Given the description of an element on the screen output the (x, y) to click on. 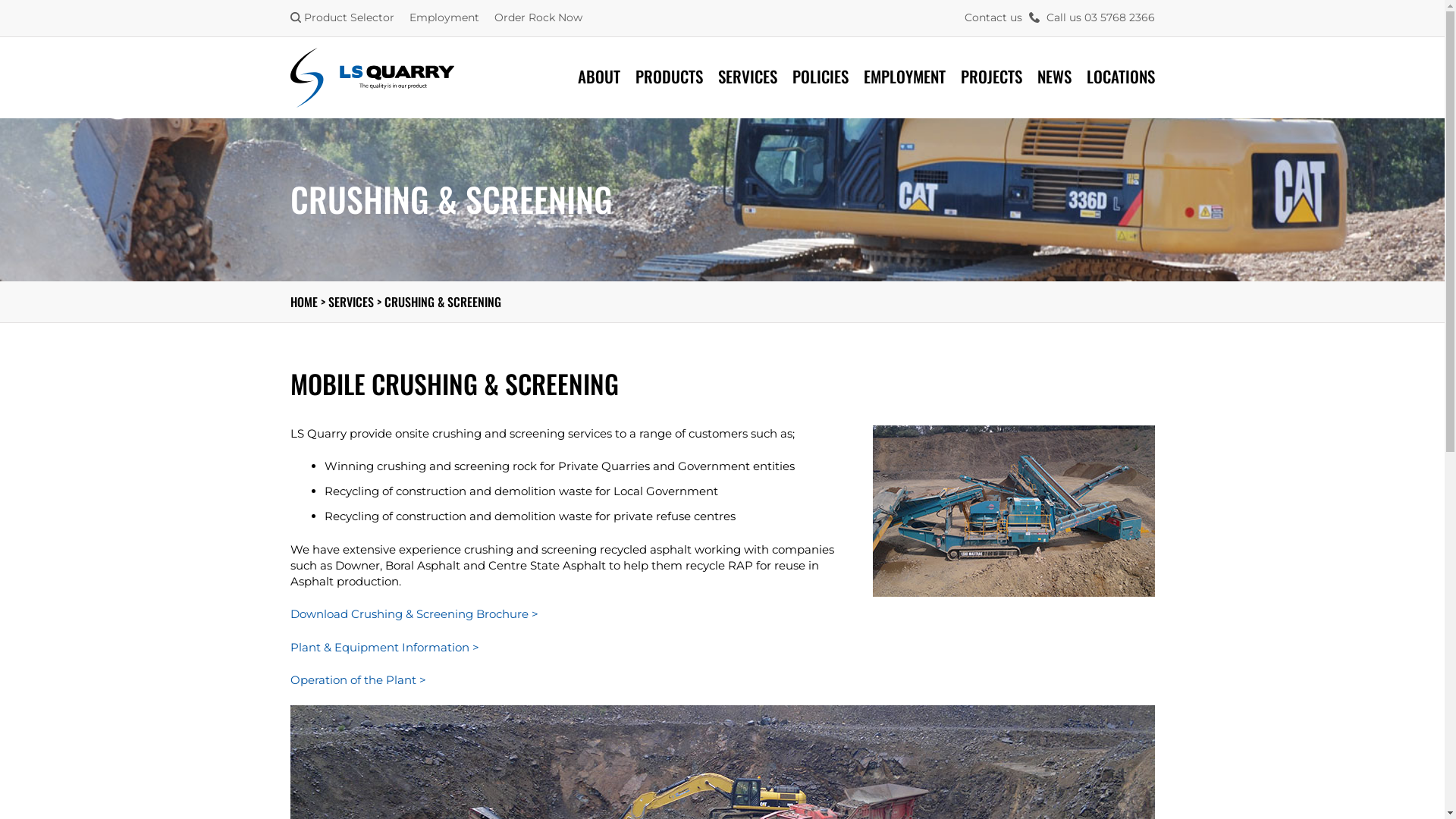
03 5768 2366 Element type: text (1119, 17)
Download Crushing & Screening Brochure > Element type: text (413, 613)
SERVICES Element type: text (746, 75)
NEWS Element type: text (1054, 75)
Employment Element type: text (444, 17)
Operation of the Plant > Element type: text (357, 679)
ABOUT Element type: text (598, 75)
Plant & Equipment Information > Element type: text (383, 647)
SERVICES Element type: text (350, 301)
Contact us Element type: text (993, 17)
Product Selector Element type: text (341, 17)
LOCATIONS Element type: text (1119, 75)
HOME Element type: text (302, 301)
PROJECTS Element type: text (990, 75)
PRODUCTS Element type: text (668, 75)
POLICIES Element type: text (819, 75)
Order Rock Now Element type: text (538, 17)
EMPLOYMENT Element type: text (903, 75)
